Given the description of an element on the screen output the (x, y) to click on. 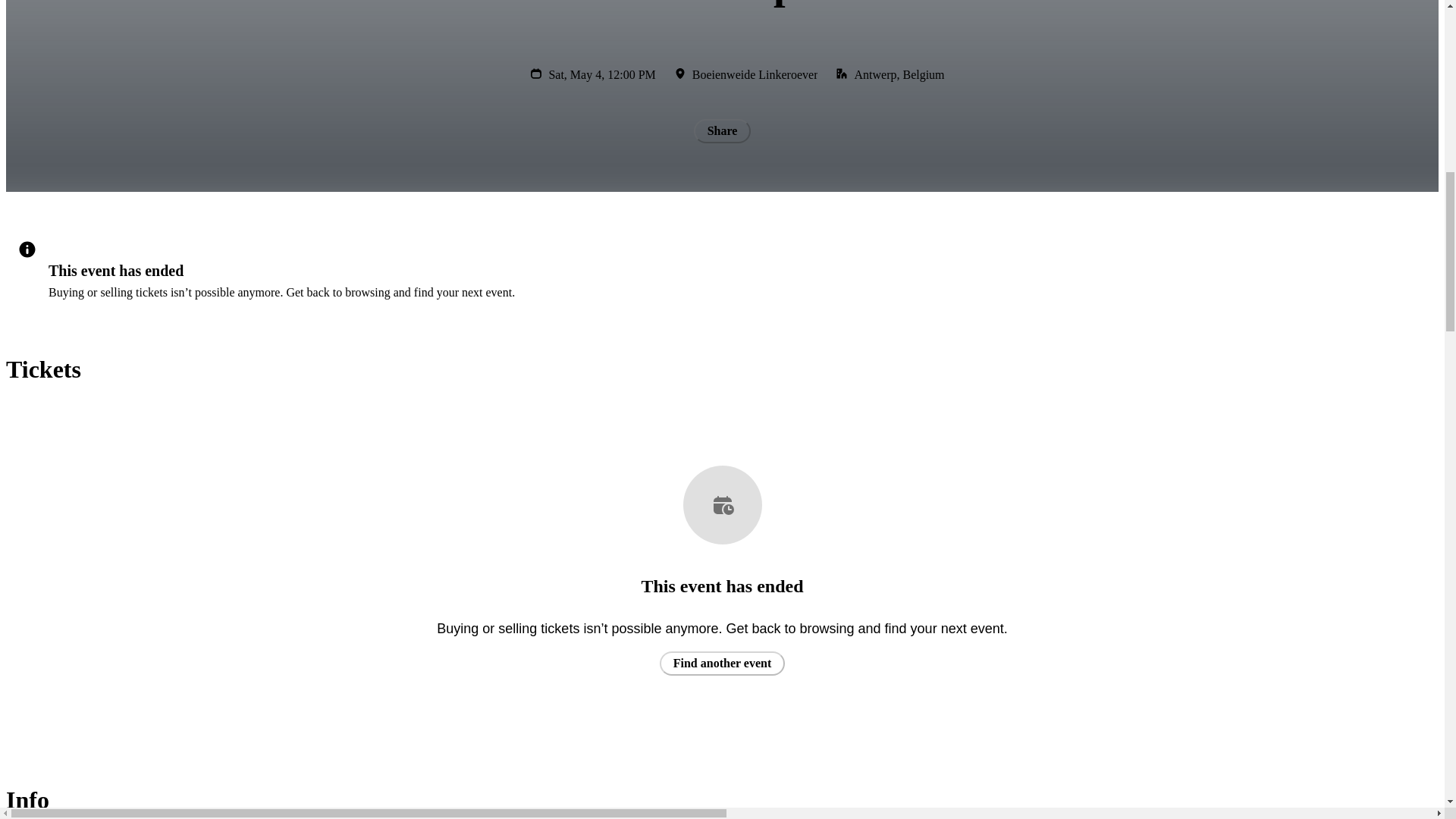
Find another event (721, 663)
Share (722, 130)
Boeienweide Linkeroever (755, 74)
Antwerp, Belgium (898, 74)
